Given the description of an element on the screen output the (x, y) to click on. 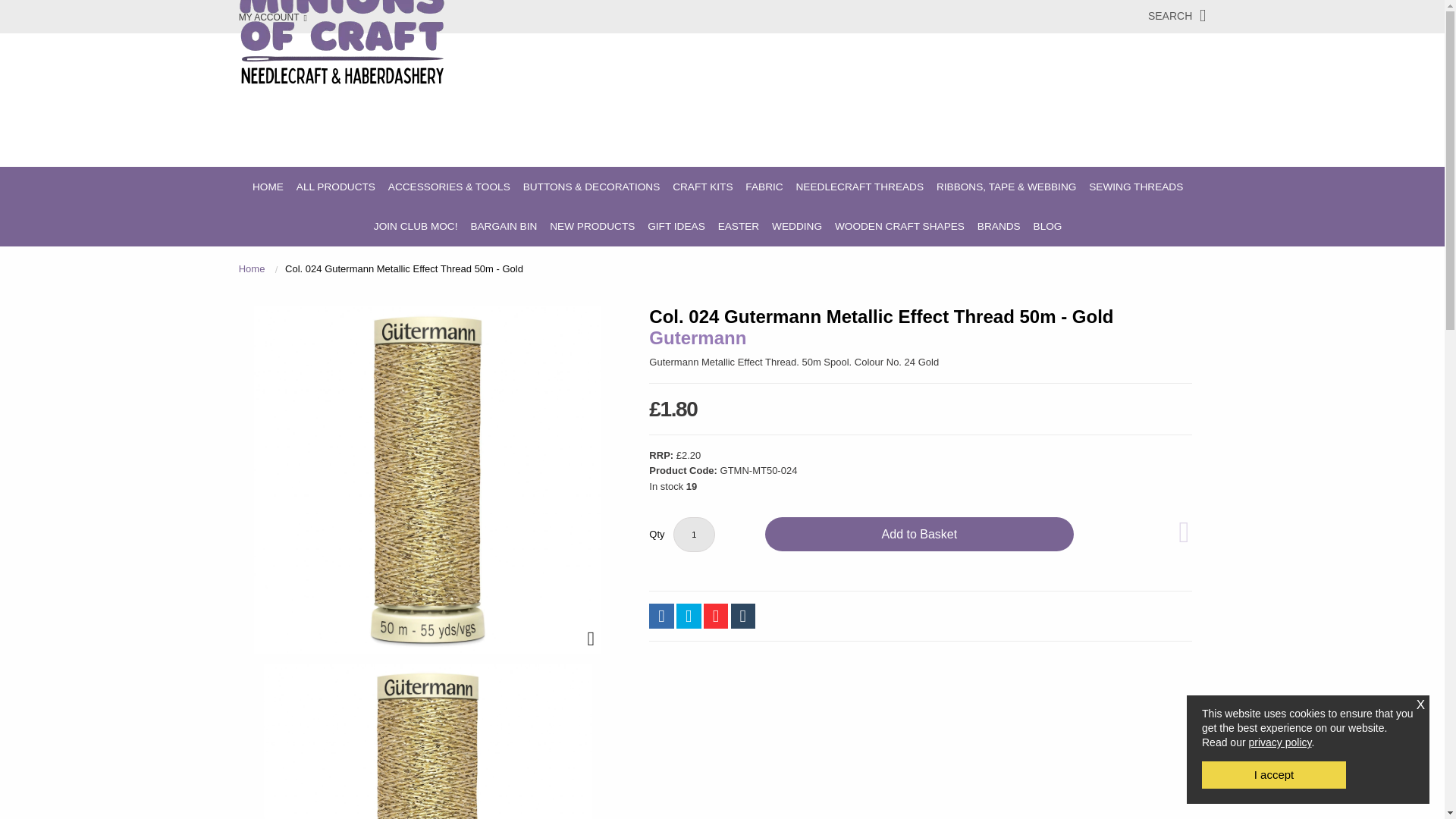
PayPal Message 1 (920, 568)
1 (693, 534)
